Given the description of an element on the screen output the (x, y) to click on. 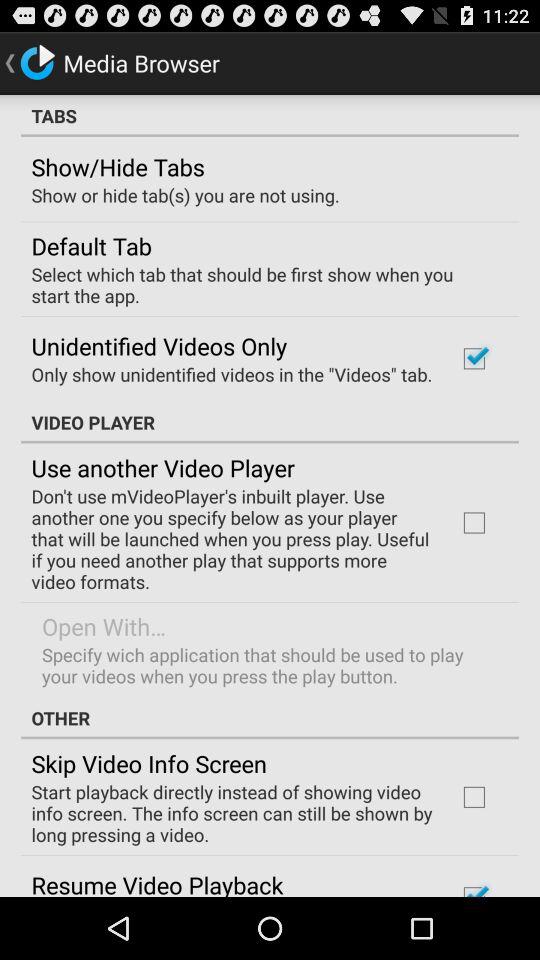
press don t use app (231, 538)
